Given the description of an element on the screen output the (x, y) to click on. 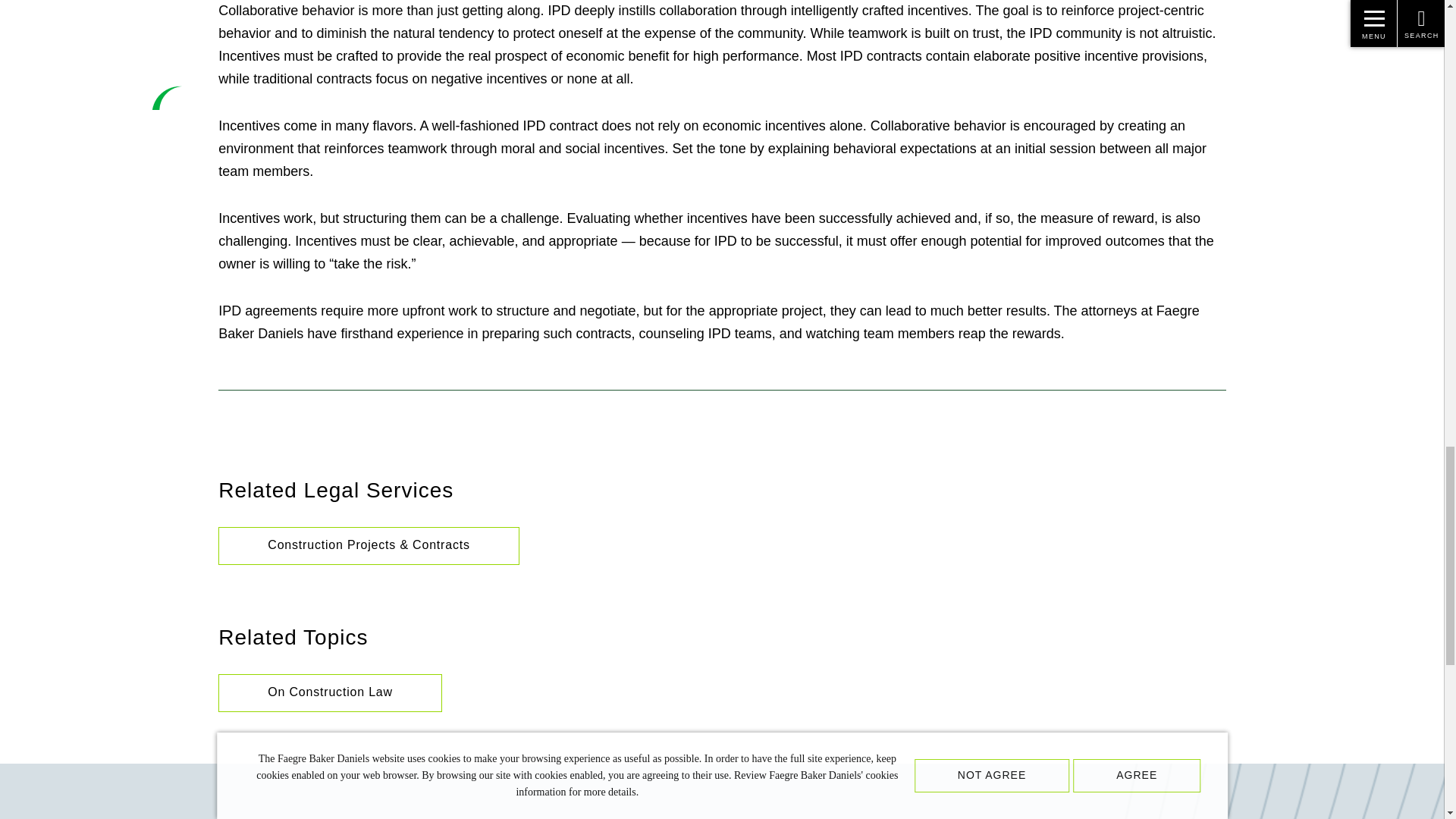
On Construction Law (330, 692)
